Given the description of an element on the screen output the (x, y) to click on. 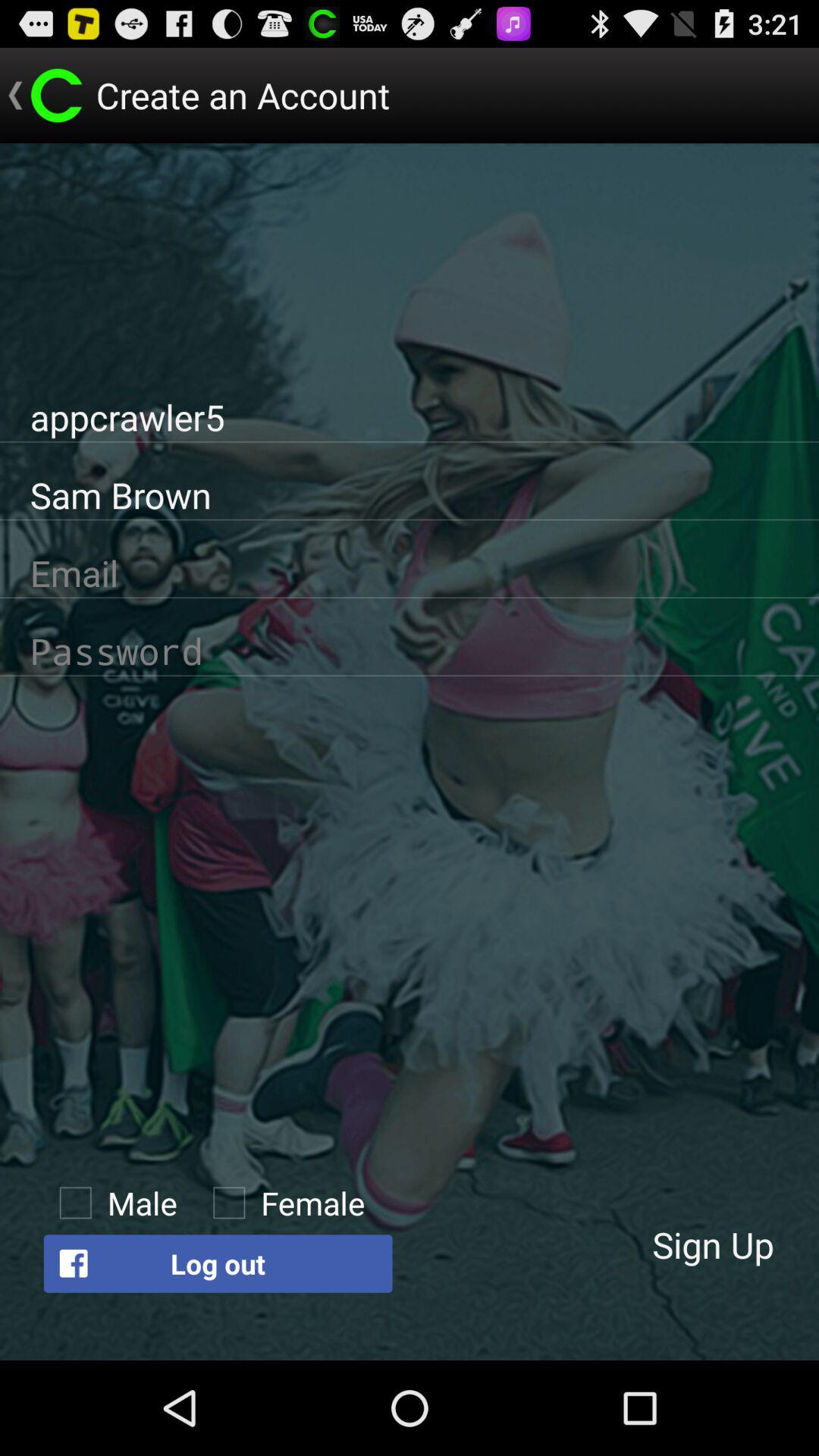
password page (409, 651)
